Given the description of an element on the screen output the (x, y) to click on. 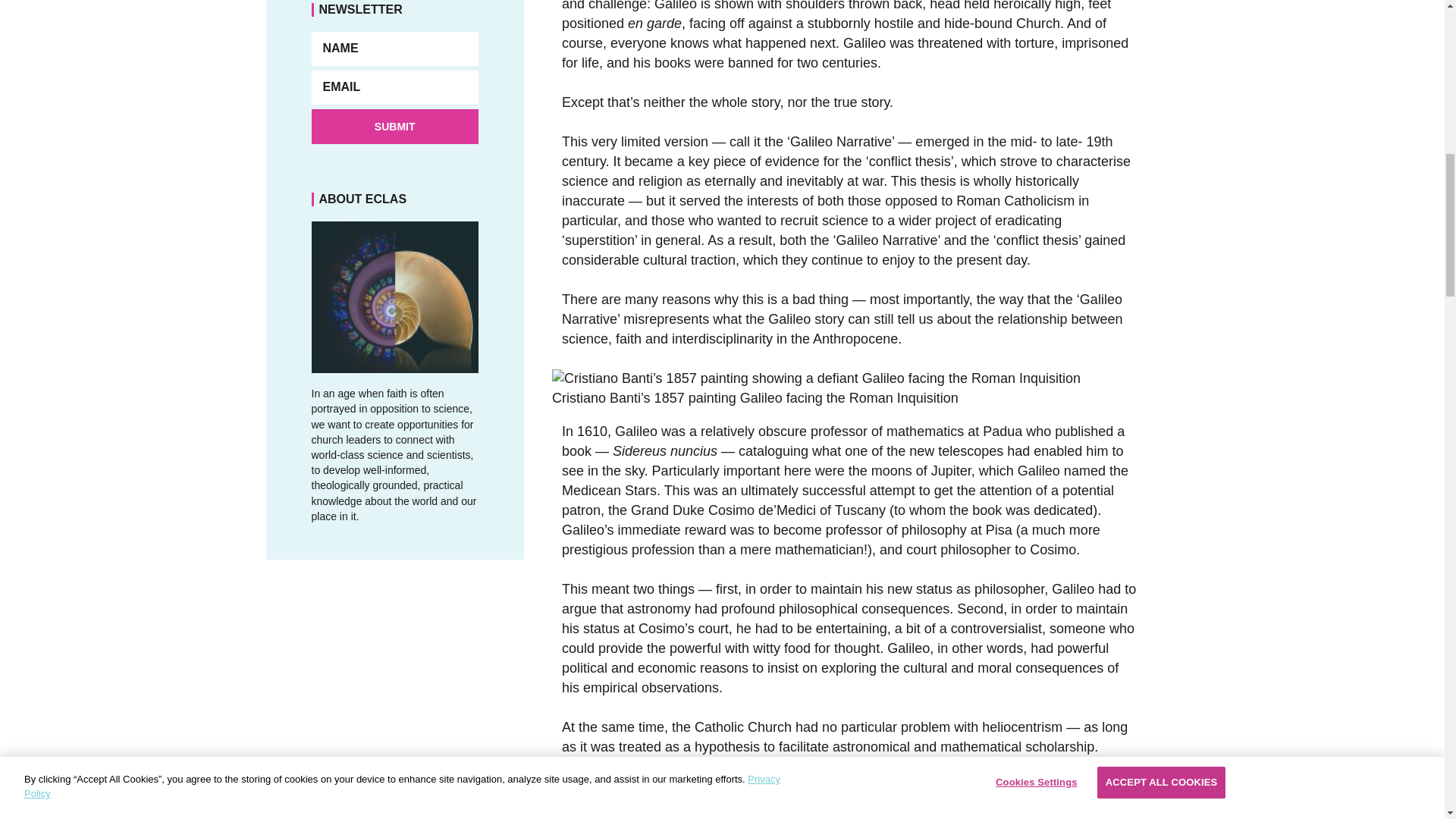
SUBMIT (394, 126)
